Given the description of an element on the screen output the (x, y) to click on. 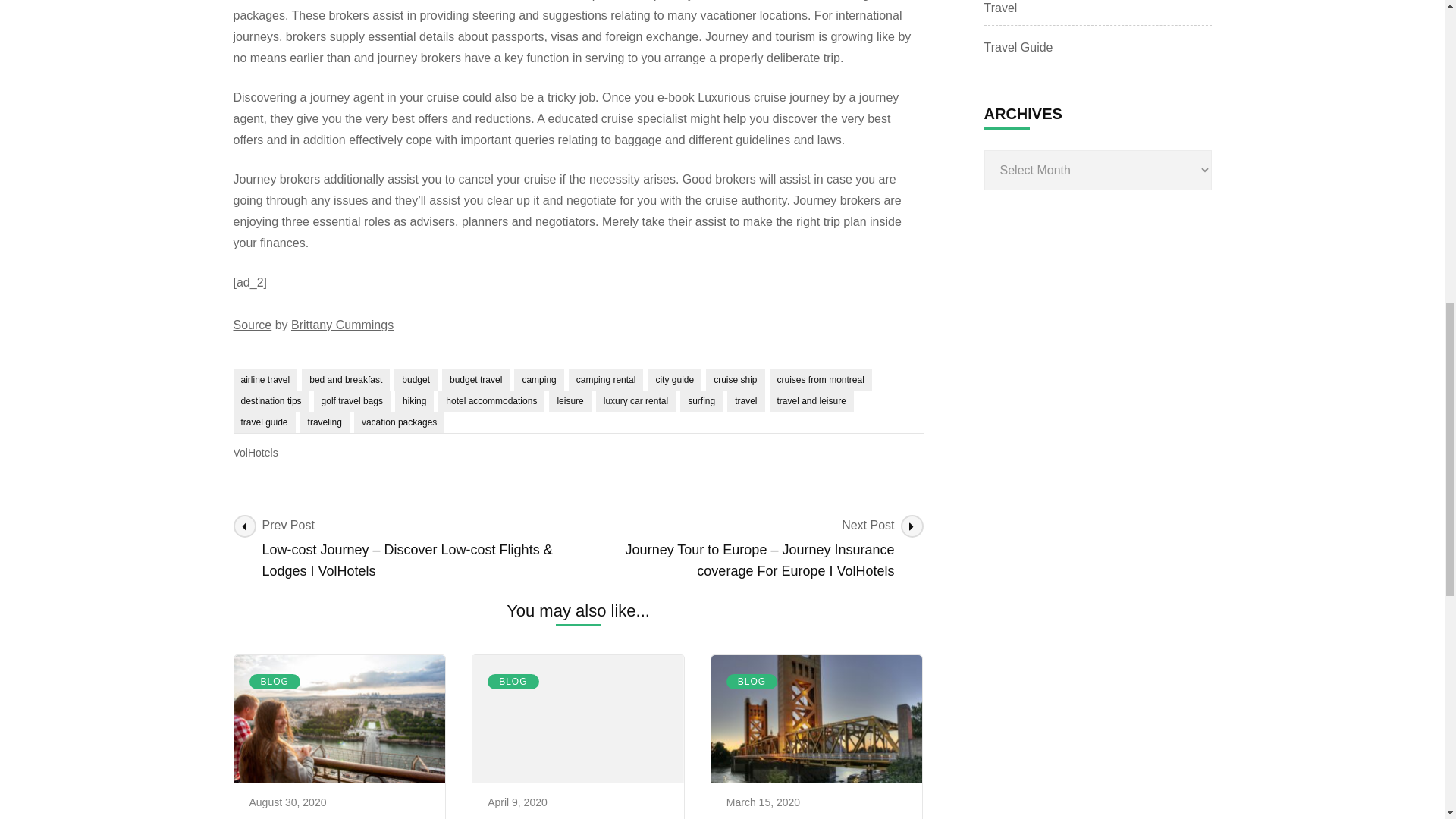
bed and breakfast (345, 379)
Source (252, 324)
Brittany Cummings (342, 324)
airline travel (265, 379)
